Given the description of an element on the screen output the (x, y) to click on. 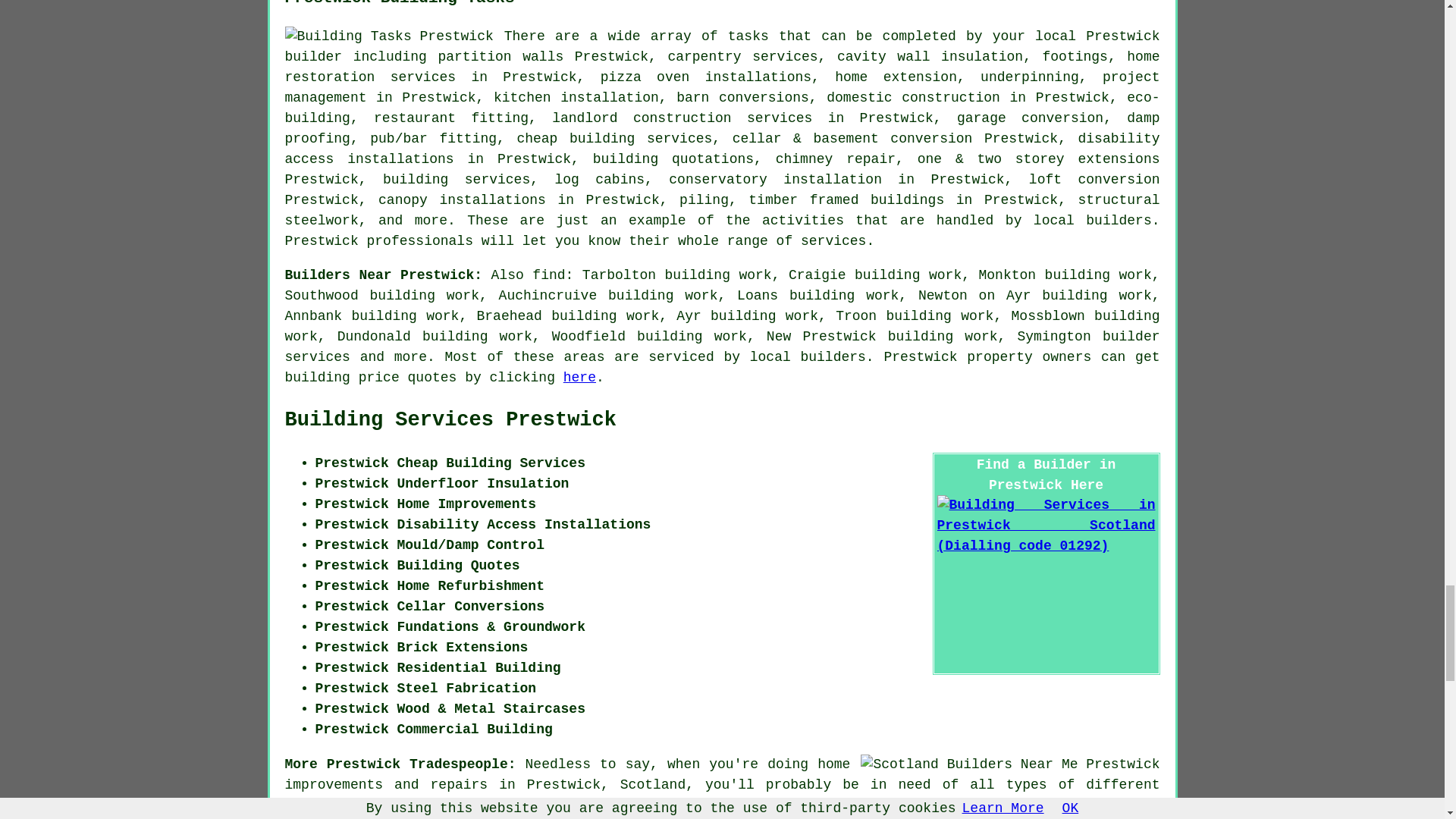
Scotland Builders Near Me Prestwick (1009, 764)
Building Tasks Prestwick (389, 36)
